Given the description of an element on the screen output the (x, y) to click on. 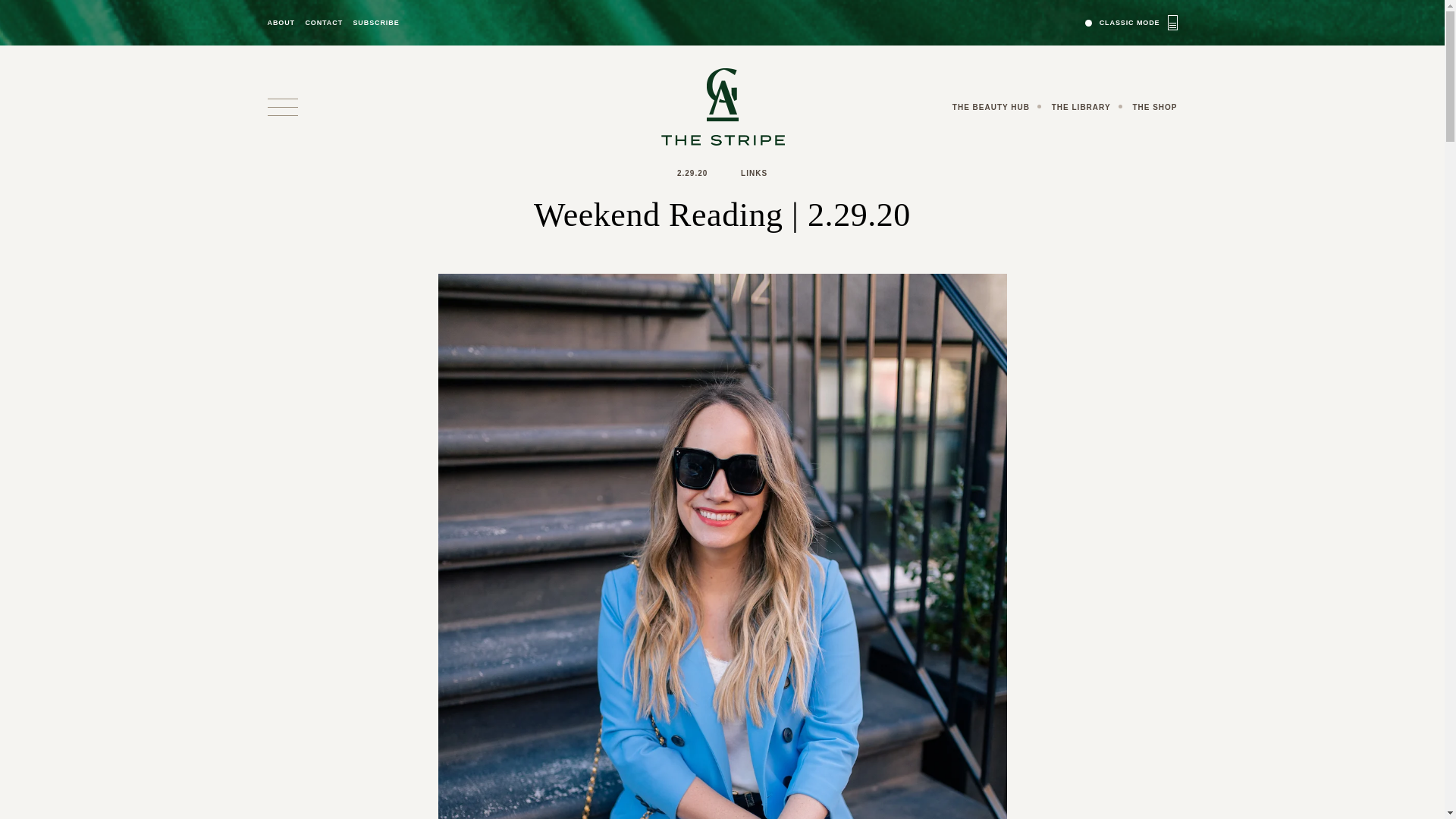
View all posts in links (754, 172)
The Stripe (722, 106)
CONTACT (323, 23)
CLASSIC MODE (1130, 22)
SUBSCRIBE (375, 23)
ABOUT (280, 23)
